Given the description of an element on the screen output the (x, y) to click on. 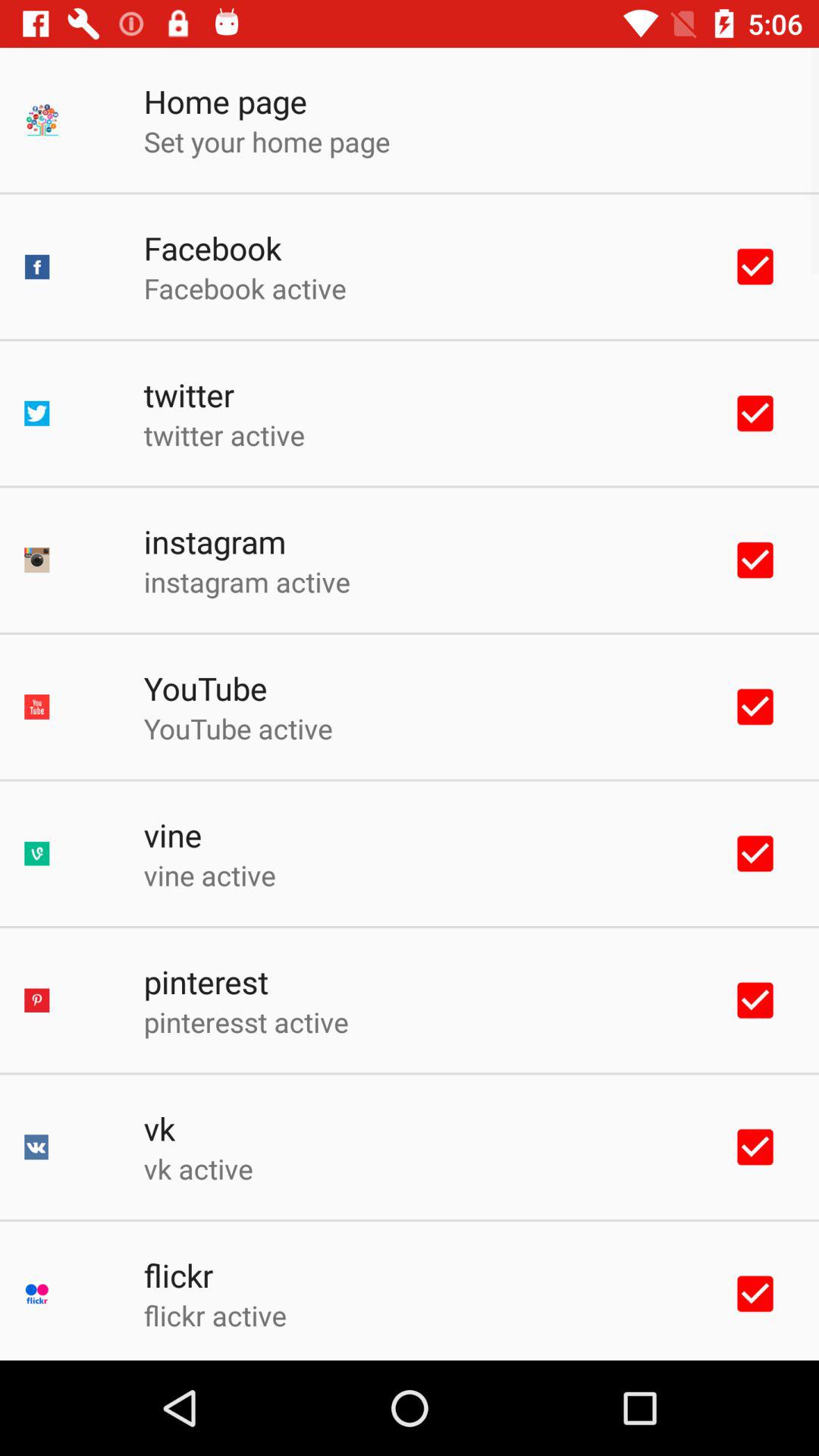
choose the icon below youtube (237, 728)
